Given the description of an element on the screen output the (x, y) to click on. 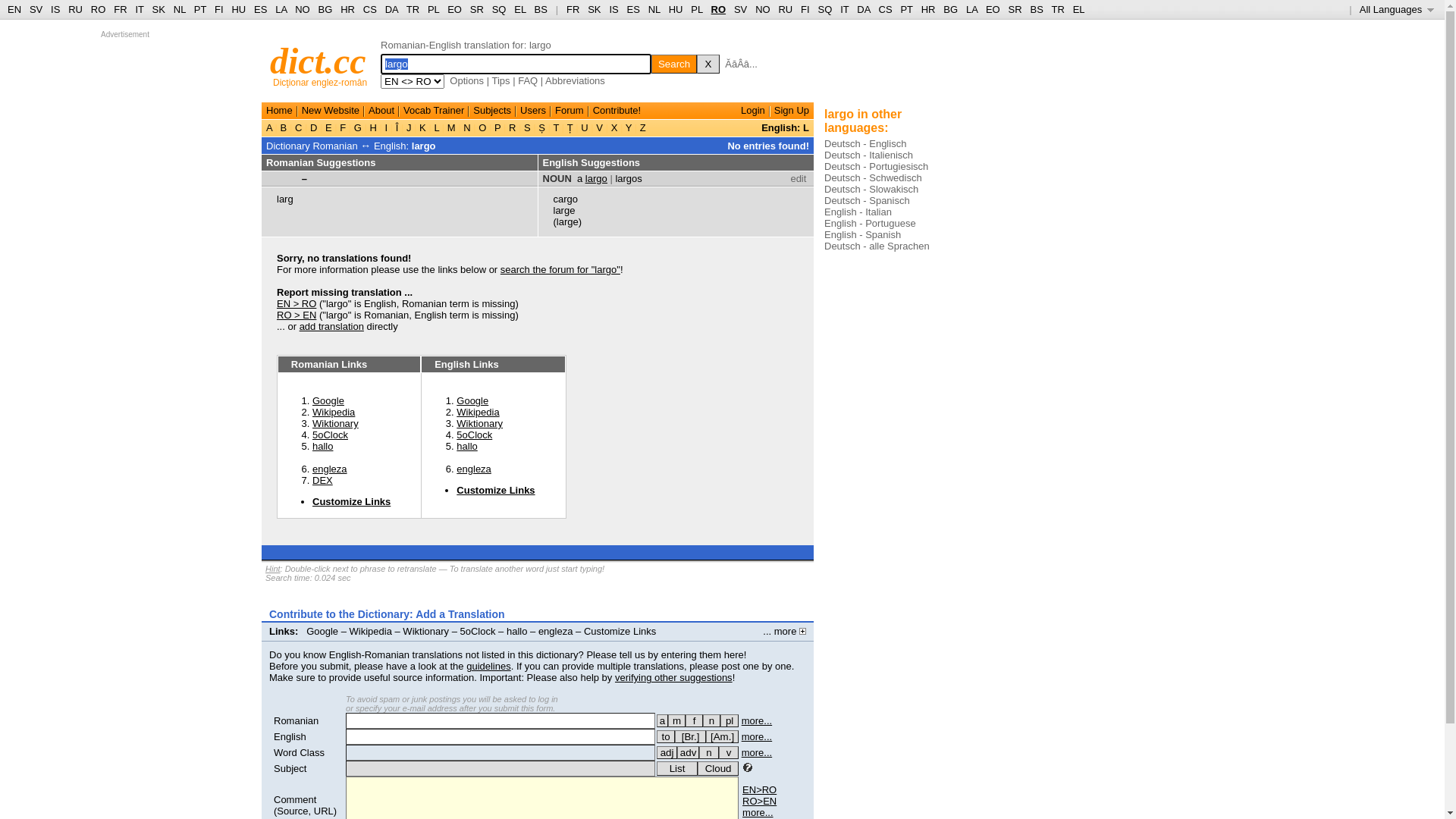
v Element type: text (728, 752)
S Element type: text (526, 127)
IT Element type: text (138, 9)
R Element type: text (511, 127)
5oClock Element type: text (474, 434)
Deutsch - Spanisch Element type: text (867, 200)
SQ Element type: text (499, 9)
HU Element type: text (238, 9)
HR Element type: text (928, 9)
Deutsch - Slowakisch Element type: text (871, 188)
engleza Element type: text (329, 468)
(esp.) American English Element type: hover (722, 736)
RO Element type: text (98, 9)
A Element type: text (270, 127)
NL Element type: text (654, 9)
EN>RO Element type: text (759, 789)
DA Element type: text (862, 9)
edit Element type: text (798, 178)
Deutsch - Portugiesisch Element type: text (876, 166)
(large) Element type: text (567, 221)
I Element type: text (386, 127)
Customize Links Element type: text (495, 489)
BS Element type: text (1035, 9)
English Element type: text (289, 736)
SK Element type: text (158, 9)
Search Element type: text (673, 63)
5oClock Element type: text (330, 434)
cargo Element type: text (565, 198)
Options Element type: text (466, 80)
LA Element type: text (971, 9)
Wiktionary Element type: text (335, 423)
IS Element type: text (613, 9)
Customize Links Element type: text (351, 501)
BG Element type: text (325, 9)
EO Element type: text (992, 9)
... more Element type: text (784, 631)
EN Element type: text (14, 9)
SV Element type: text (740, 9)
Google Element type: text (472, 400)
EL Element type: text (1079, 9)
Login Element type: text (752, 110)
FI Element type: text (218, 9)
English: L Element type: text (785, 127)
add translation Element type: text (331, 326)
All Languages  Element type: text (1396, 9)
NO Element type: text (762, 9)
Vocab Trainer Element type: text (433, 110)
BG Element type: text (950, 9)
TR Element type: text (412, 9)
Contribute! Element type: text (617, 110)
NO Element type: text (302, 9)
to Element type: text (665, 736)
E Element type: text (328, 127)
PL Element type: text (696, 9)
New Website Element type: text (330, 110)
NL Element type: text (179, 9)
PT Element type: text (200, 9)
O Element type: text (482, 127)
Deutsch - Schwedisch Element type: text (873, 177)
Tips Element type: text (500, 80)
SQ Element type: text (824, 9)
HR Element type: text (347, 9)
J Element type: text (408, 127)
N Element type: text (467, 127)
LA Element type: text (280, 9)
Romanian Element type: text (295, 720)
Hint Element type: text (272, 568)
[Am.] Element type: text (722, 736)
M Element type: text (451, 127)
IS Element type: text (54, 9)
larg Element type: text (284, 198)
H Element type: text (373, 127)
ES Element type: text (260, 9)
T Element type: text (555, 127)
hallo Element type: text (516, 631)
BS Element type: text (540, 9)
[Br.] Element type: text (690, 736)
RO>EN Element type: text (759, 800)
largo Element type: text (423, 145)
Home Element type: text (279, 110)
search the forum for "largo" Element type: text (560, 269)
hallo Element type: text (466, 445)
SV Element type: text (35, 9)
X Element type: text (707, 63)
adj Element type: text (666, 752)
D Element type: text (313, 127)
About Element type: text (381, 110)
feminin Element type: hover (693, 720)
SR Element type: text (476, 9)
CS Element type: text (369, 9)
Abbreviations Element type: text (575, 80)
pl Element type: text (729, 720)
PT Element type: text (906, 9)
C Element type: text (297, 127)
Deutsch - Englisch Element type: text (865, 143)
B Element type: text (283, 127)
RO Element type: text (718, 9)
FAQ Element type: text (527, 80)
more... Element type: text (756, 720)
RU Element type: text (785, 9)
n Element type: text (711, 720)
IT Element type: text (844, 9)
Z Element type: text (642, 127)
plural Element type: hover (729, 720)
TR Element type: text (1057, 9)
SK Element type: text (593, 9)
m Element type: text (676, 720)
Sign Up Element type: text (791, 110)
adv Element type: text (688, 752)
Google Element type: text (328, 400)
HU Element type: text (675, 9)
Cloud Element type: text (717, 768)
English - Portuguese Element type: text (870, 223)
Wiktionary Element type: text (479, 423)
ES Element type: text (633, 9)
dict.cc Element type: text (317, 60)
L Element type: text (436, 127)
Wikipedia Element type: text (370, 631)
PL Element type: text (433, 9)
Deutsch - alle Sprachen Element type: text (876, 245)
n Element type: text (708, 752)
FR Element type: text (572, 9)
FR Element type: text (119, 9)
engleza Element type: text (555, 631)
Wiktionary Element type: text (425, 631)
List Element type: text (676, 768)
guidelines Element type: text (488, 665)
RO > EN Element type: text (296, 314)
Users Element type: text (533, 110)
neutru Element type: hover (711, 720)
EL Element type: text (519, 9)
large Element type: text (564, 210)
EO Element type: text (454, 9)
more... Element type: text (756, 752)
masculin Element type: hover (676, 720)
a Element type: text (662, 720)
G Element type: text (357, 127)
Forum Element type: text (569, 110)
Wikipedia Element type: text (477, 411)
FI Element type: text (804, 9)
5oClock Element type: text (477, 631)
P Element type: text (497, 127)
Deutsch - Italienisch Element type: text (868, 154)
f Element type: text (693, 720)
DA Element type: text (391, 9)
CS Element type: text (884, 9)
a largo Element type: text (592, 178)
(esp.) British English Element type: hover (690, 736)
EN > RO Element type: text (296, 303)
English - Spanish Element type: text (862, 234)
largos Element type: text (628, 178)
U Element type: text (584, 127)
RU Element type: text (75, 9)
English - Italian Element type: text (857, 211)
verifying other suggestions Element type: text (673, 677)
hallo Element type: text (322, 445)
more... Element type: text (756, 736)
F Element type: text (342, 127)
SR Element type: text (1015, 9)
X Element type: text (614, 127)
engleza Element type: text (473, 468)
more... Element type: text (757, 812)
Contribute to the Dictionary: Add a Translation Element type: text (387, 614)
for verbs Element type: hover (665, 736)
Subjects Element type: text (492, 110)
Google Element type: text (322, 631)
Customize Links Element type: text (619, 631)
Wikipedia Element type: text (333, 411)
K Element type: text (423, 127)
Y Element type: text (627, 127)
V Element type: text (599, 127)
Dictionary Element type: text (288, 145)
DEX Element type: text (322, 480)
